Given the description of an element on the screen output the (x, y) to click on. 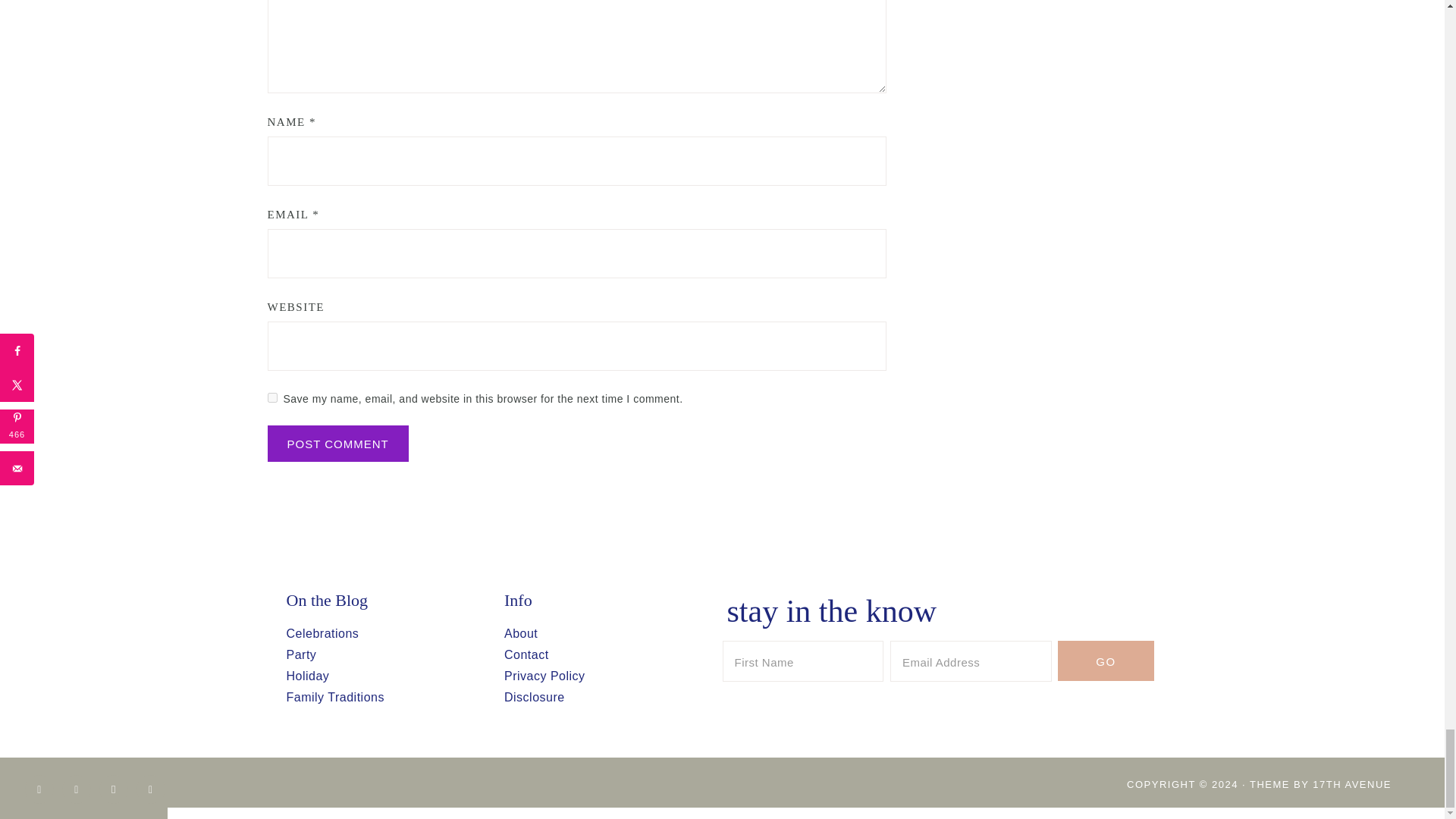
yes (271, 397)
Post Comment (336, 443)
Go (1106, 660)
